Given the description of an element on the screen output the (x, y) to click on. 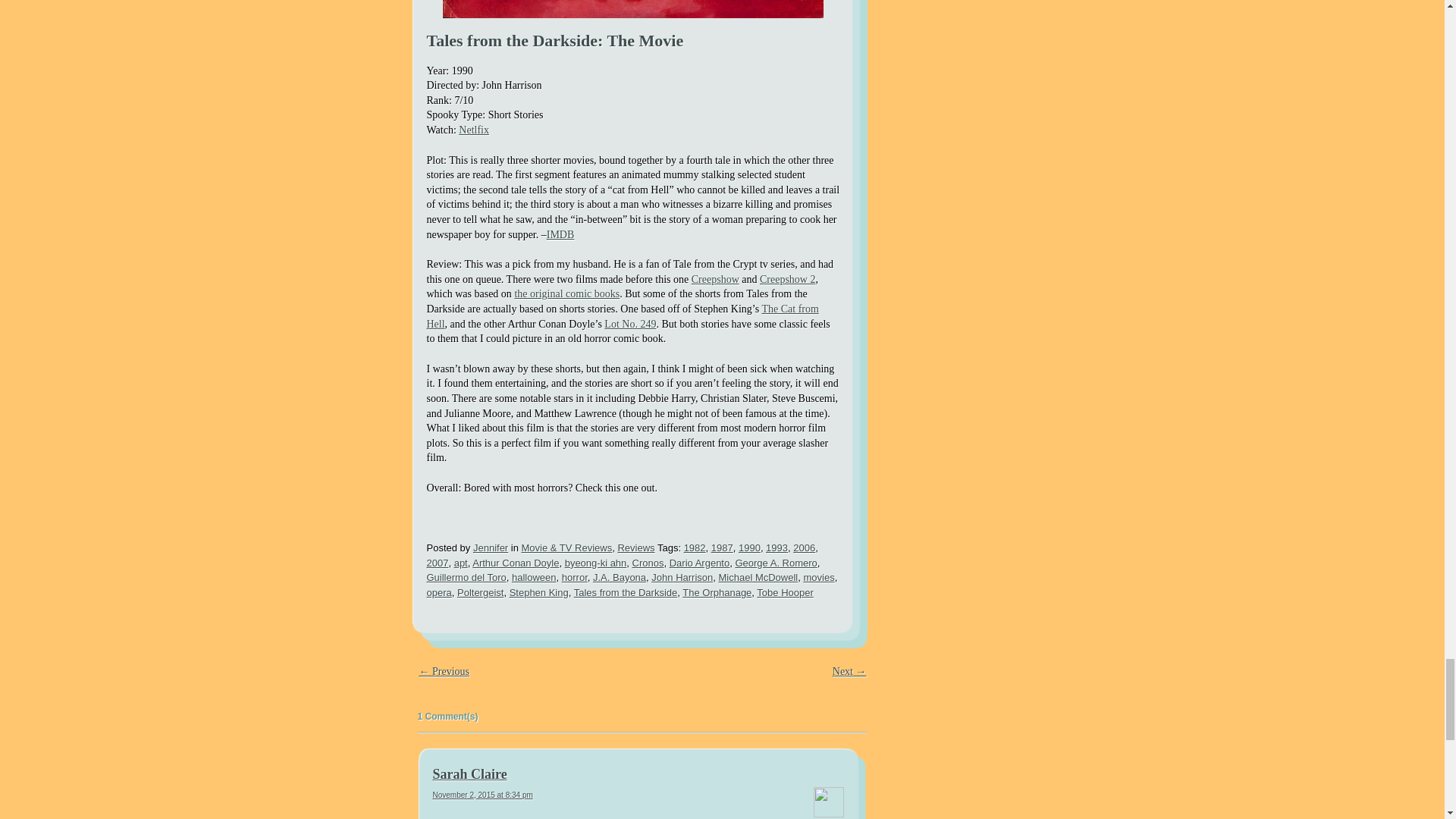
Reviews (635, 547)
IMDB (561, 234)
Jennifer (490, 547)
1990 (749, 547)
The Cat from Hell (622, 316)
Posts by Jennifer (490, 547)
1982 (695, 547)
Lot No. 249 (630, 324)
1987 (722, 547)
1993 (776, 547)
Netlfix (473, 129)
the original comic books (566, 293)
2006 (804, 547)
Creepshow 2 (787, 279)
Creepshow (715, 279)
